Given the description of an element on the screen output the (x, y) to click on. 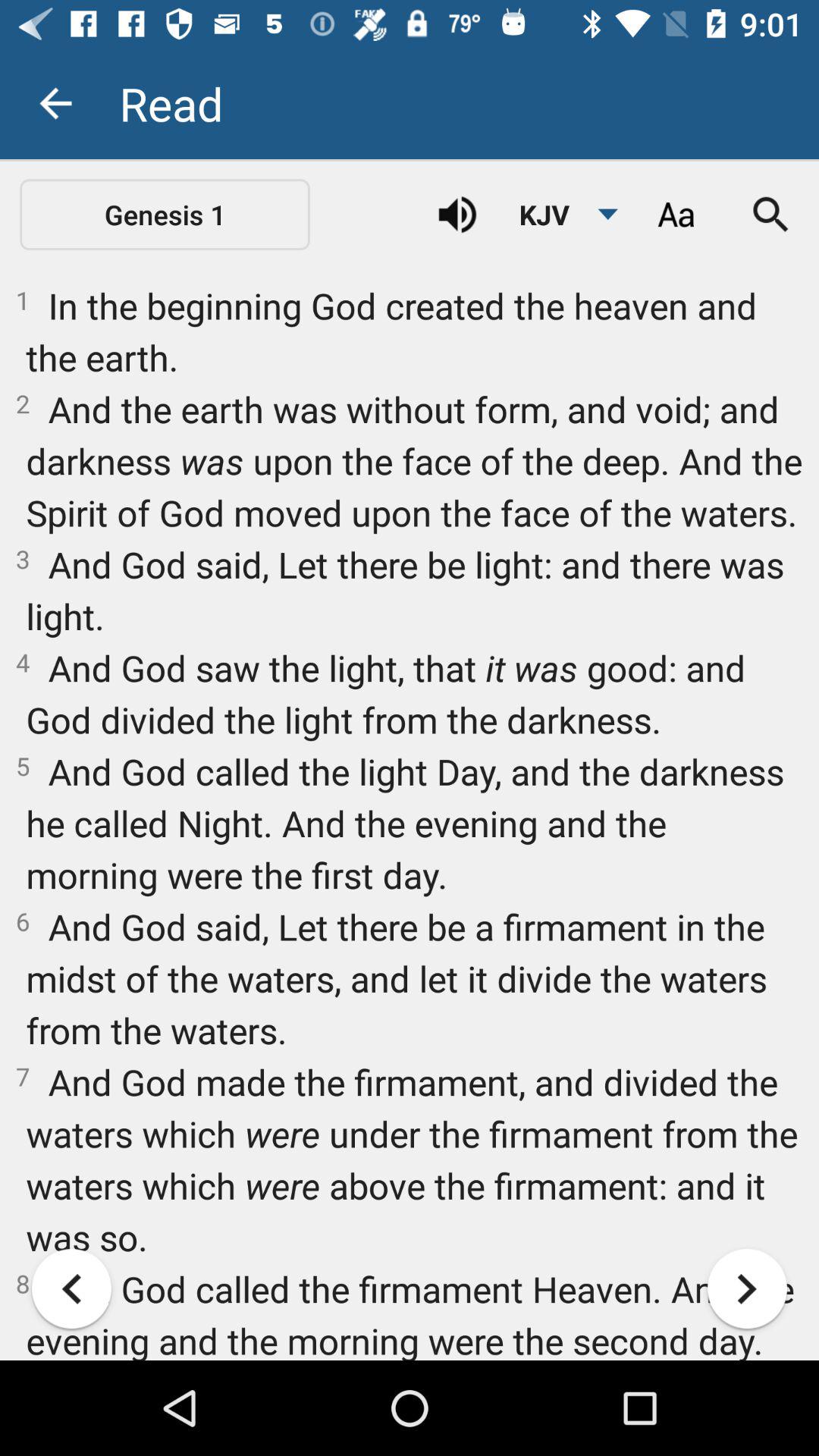
click item to the left of the read (55, 103)
